Given the description of an element on the screen output the (x, y) to click on. 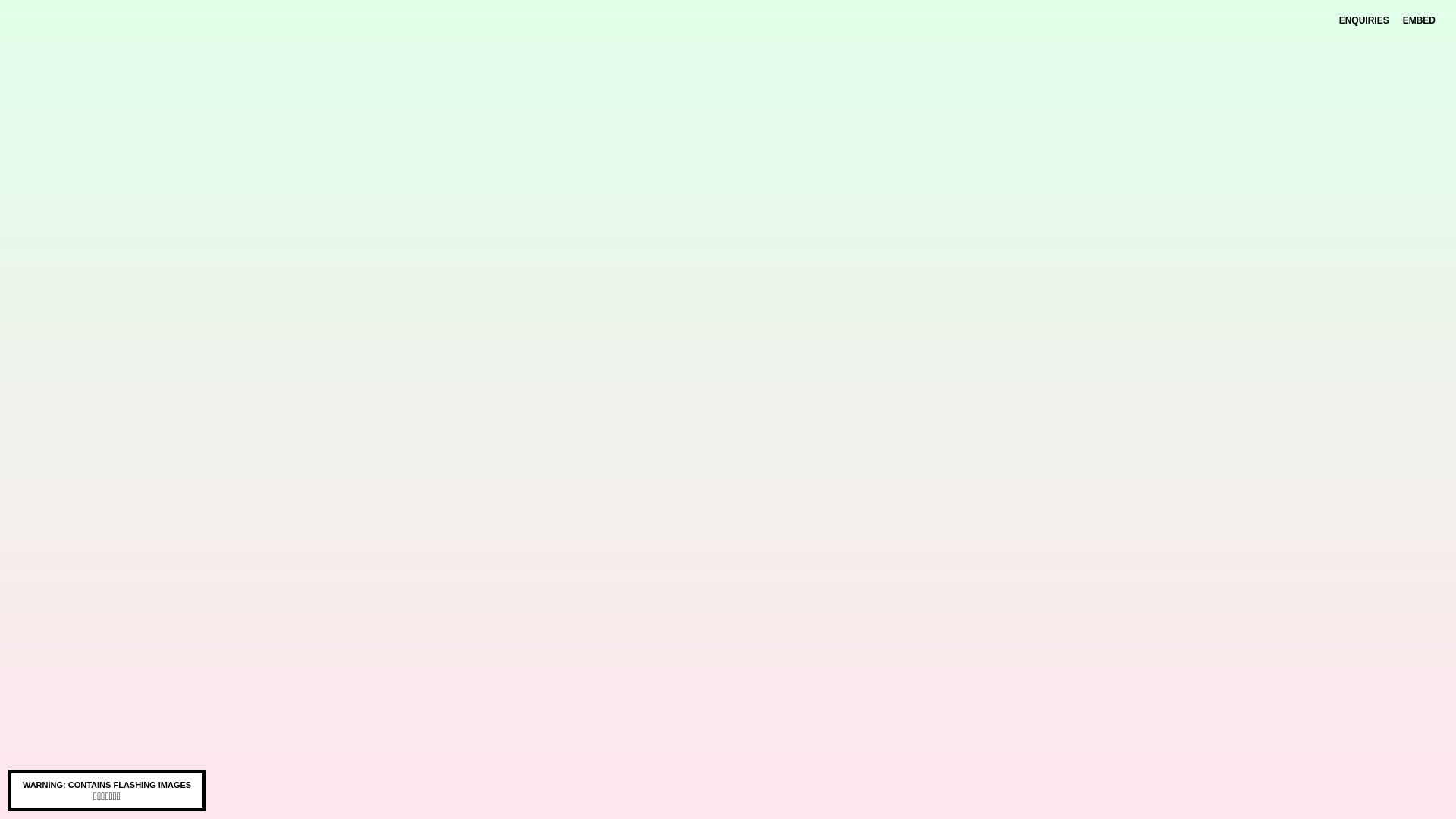
EMBED Element type: text (1418, 20)
ENQUIRIES Element type: text (1363, 20)
